Given the description of an element on the screen output the (x, y) to click on. 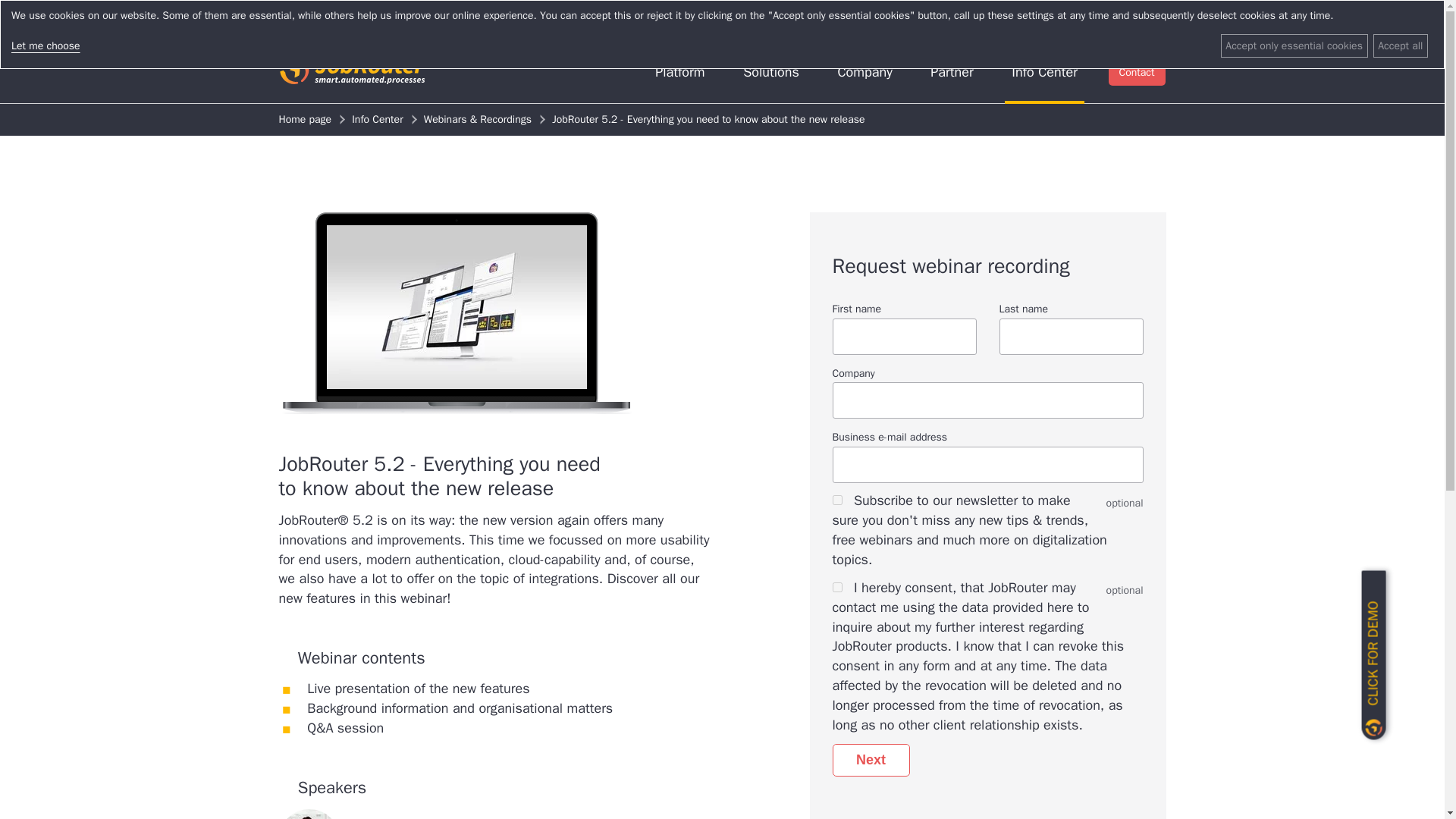
Editions (699, 21)
Platform (679, 72)
To home page (354, 72)
1 (837, 587)
Switch language (1125, 21)
More contrast (948, 21)
EN (1125, 21)
Academy (598, 21)
1 (837, 500)
 Search (996, 21)
